Given the description of an element on the screen output the (x, y) to click on. 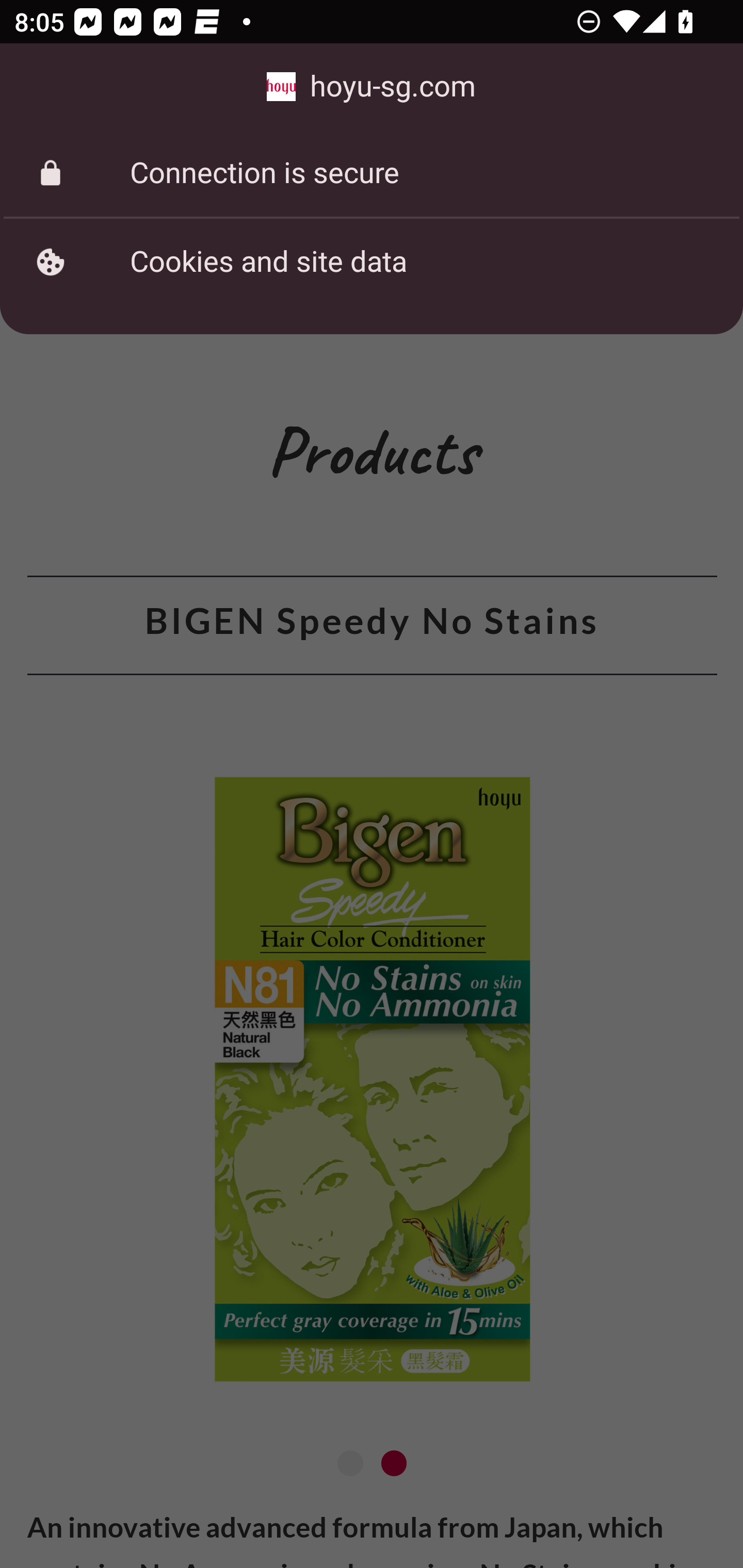
hoyu-sg.com (371, 86)
Connection is secure (371, 173)
Cookies and site data (371, 261)
